Given the description of an element on the screen output the (x, y) to click on. 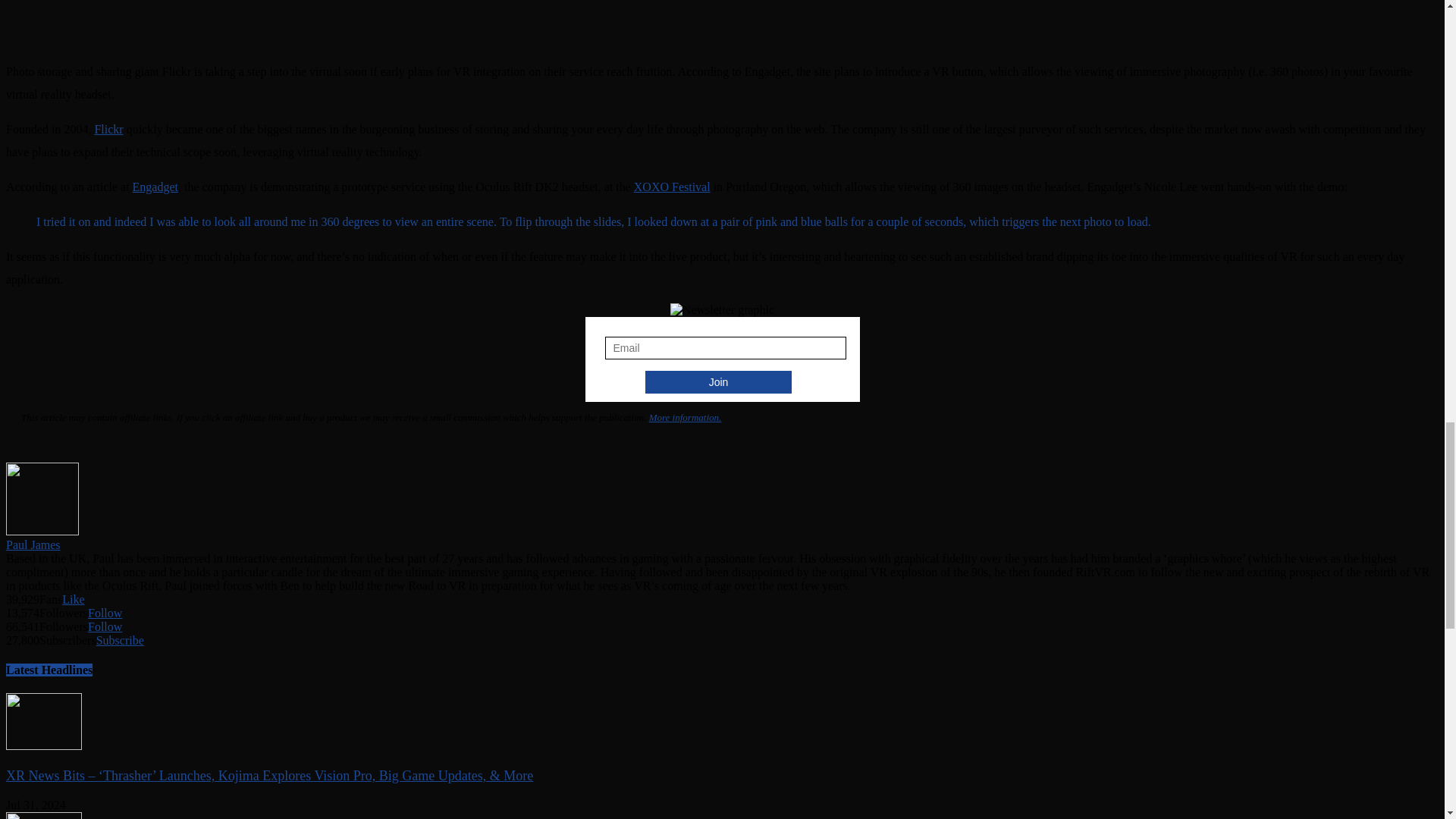
Flickr (108, 128)
Join (718, 382)
Engadget (154, 186)
XOXO Festival (671, 186)
